Given the description of an element on the screen output the (x, y) to click on. 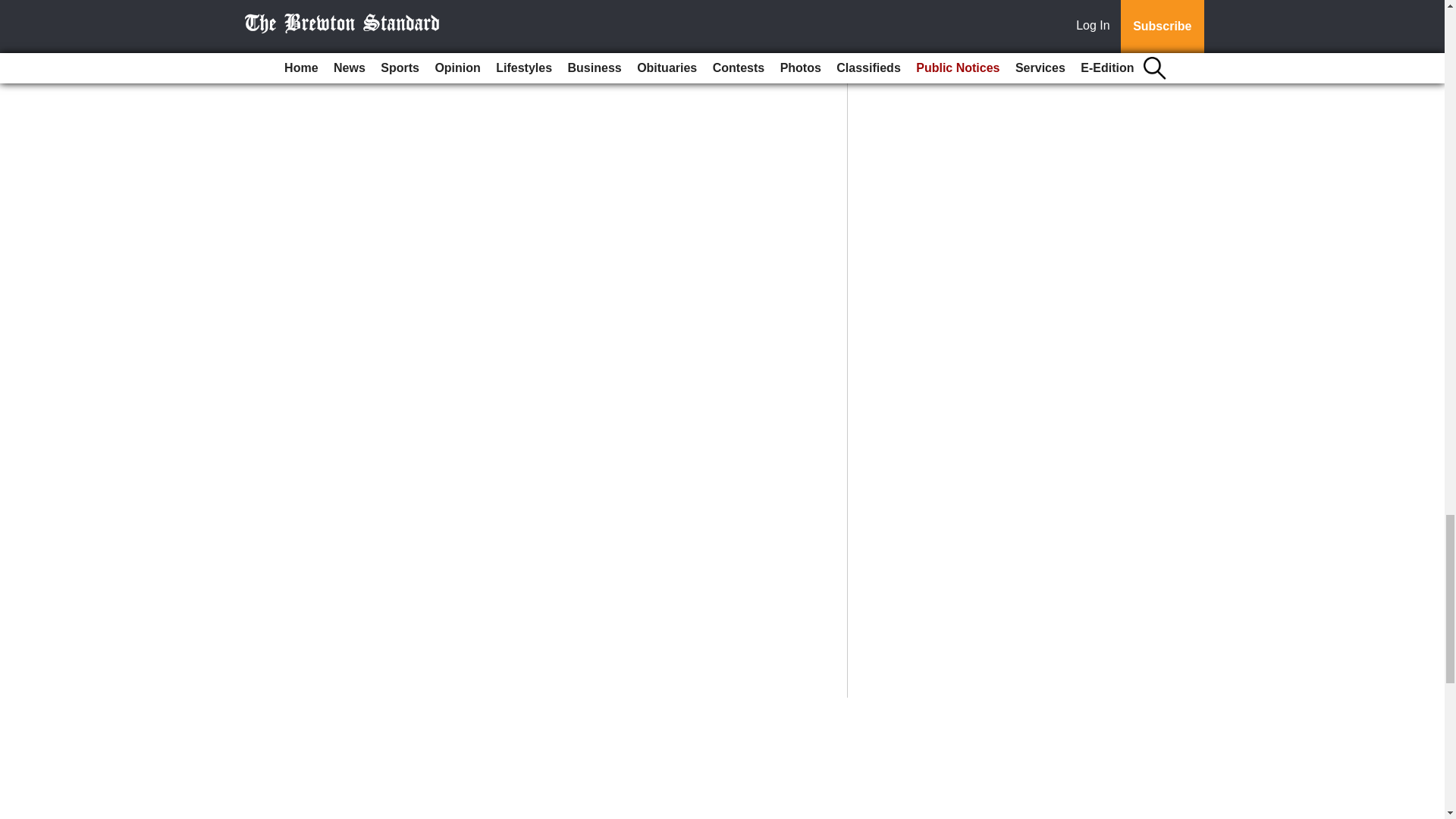
School tax savings bills passes both houses (521, 2)
Print Article (384, 44)
School tax savings bills passes both houses (521, 2)
